Given the description of an element on the screen output the (x, y) to click on. 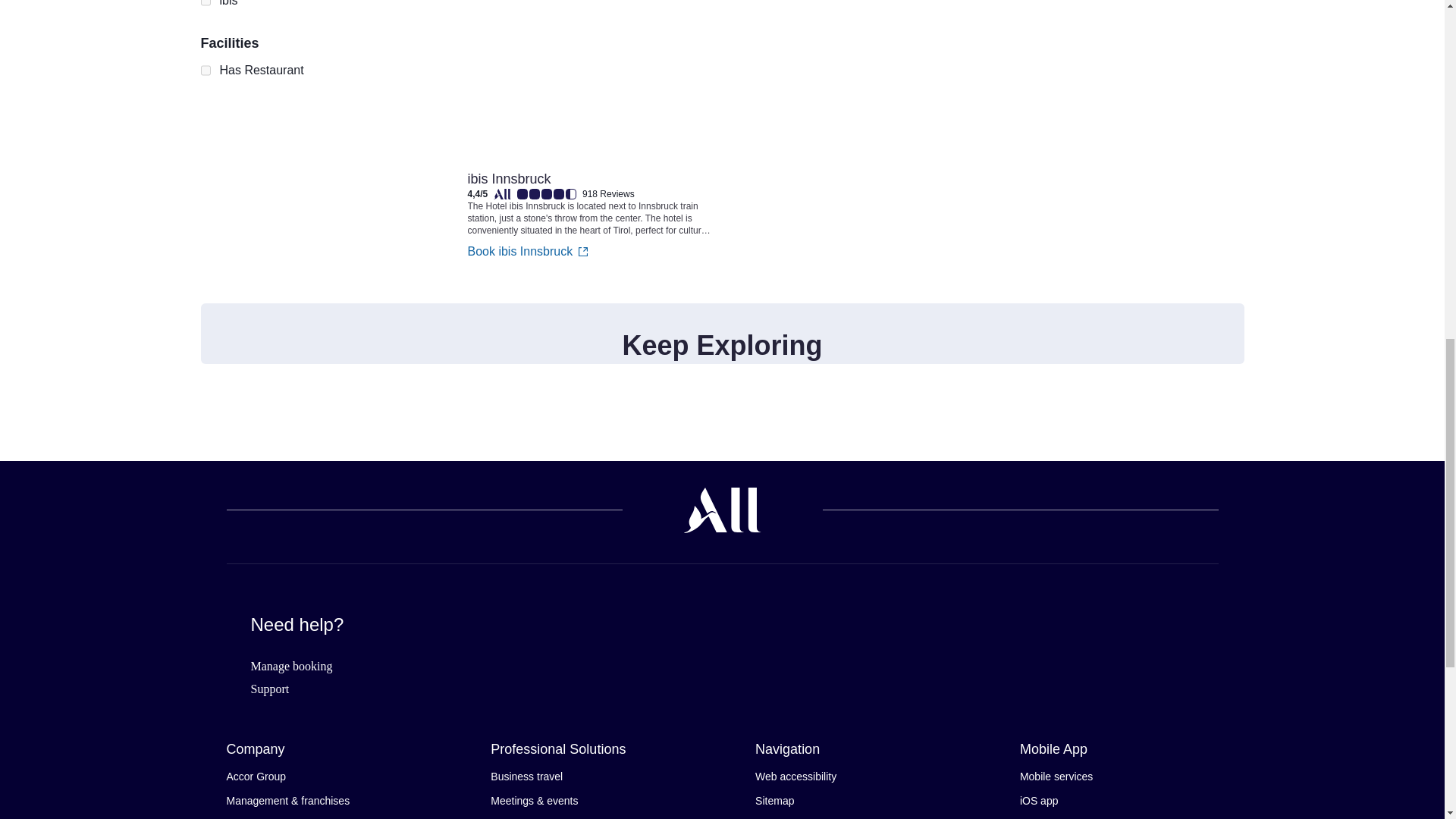
Link opens in a new tab (590, 197)
on (204, 4)
Link opens in a new tab (590, 80)
